Given the description of an element on the screen output the (x, y) to click on. 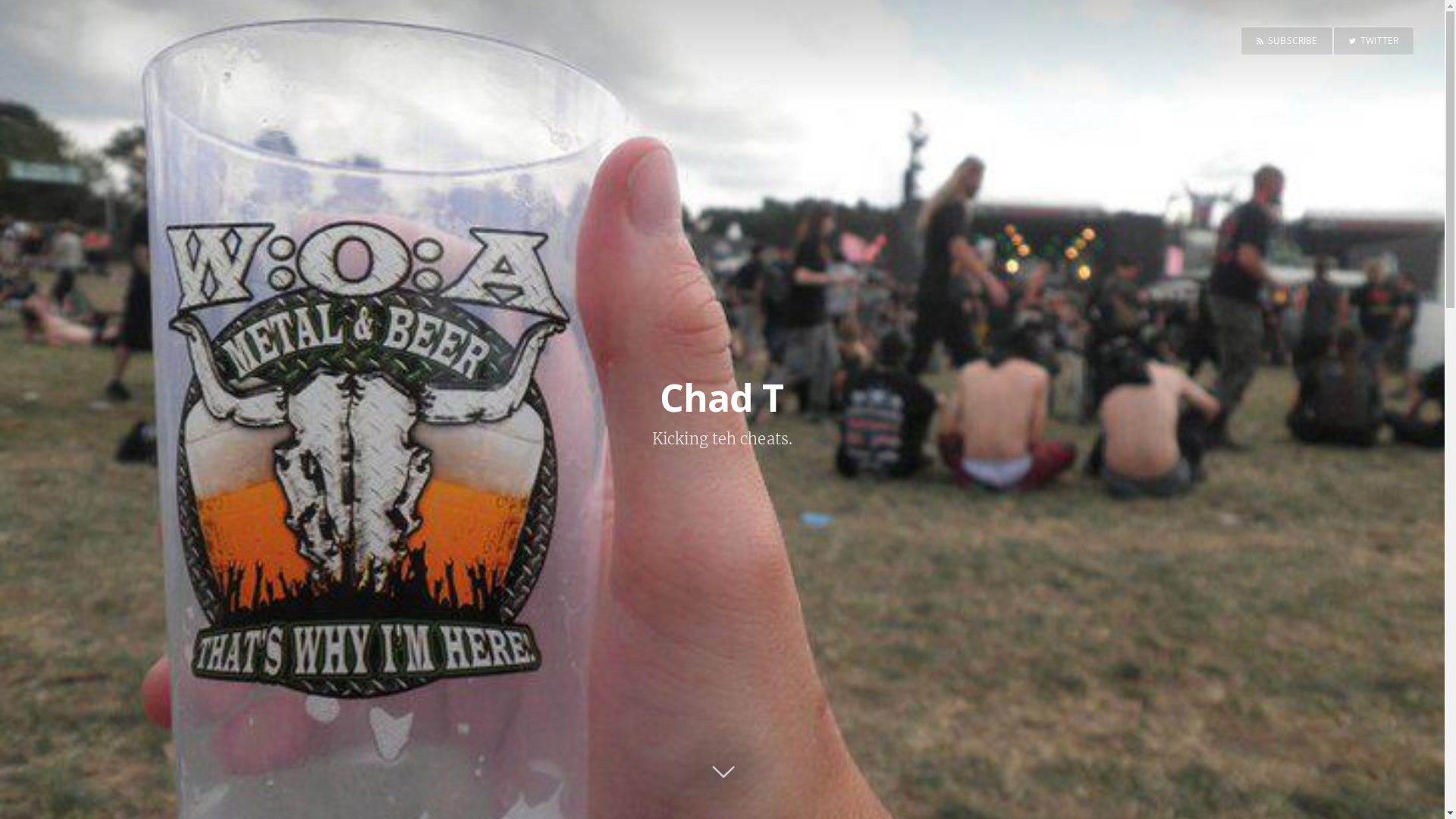
TWITTER Element type: text (1373, 40)
SUBSCRIBE Element type: text (1286, 40)
